Given the description of an element on the screen output the (x, y) to click on. 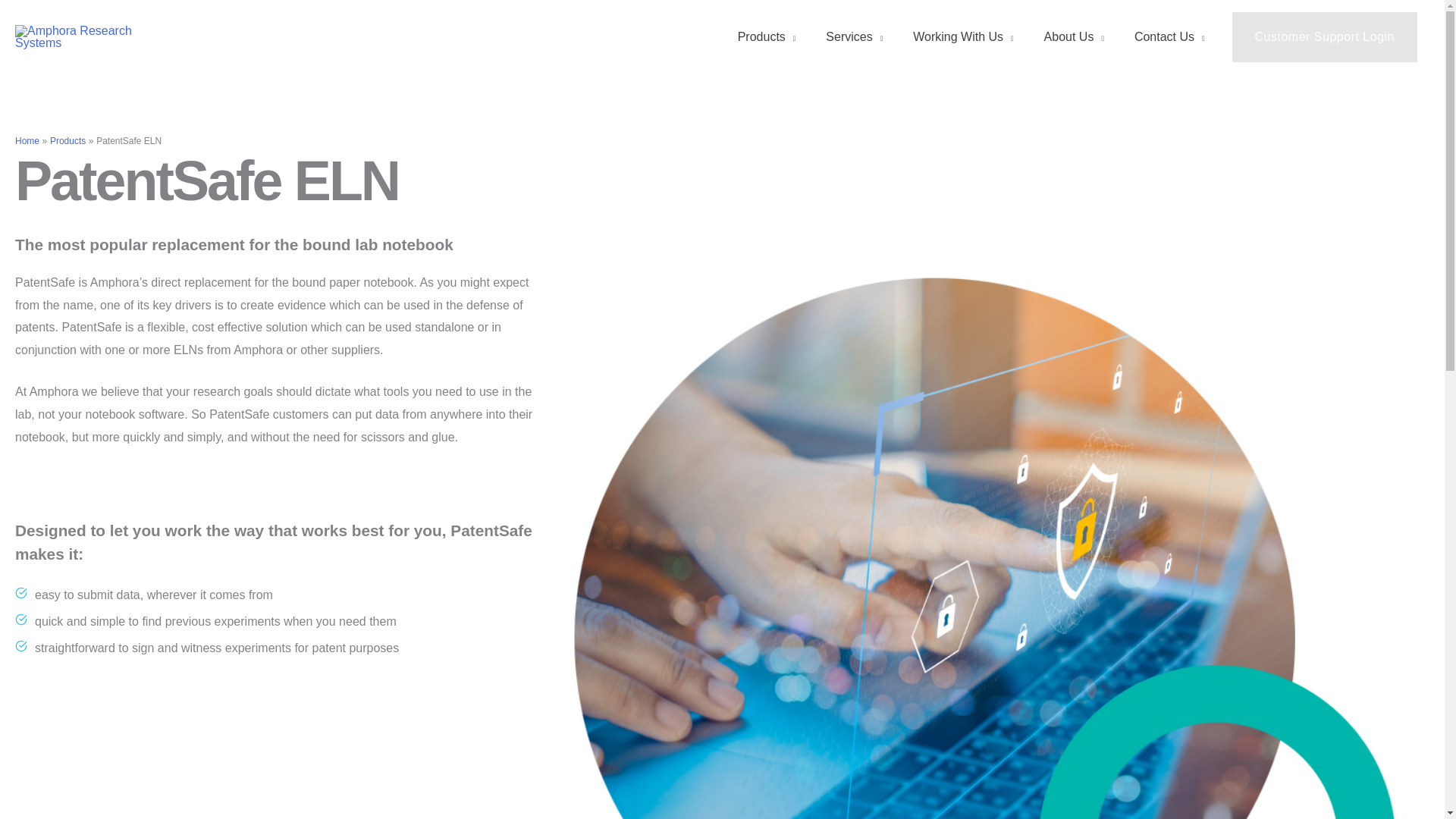
Products (766, 37)
Contact Us (1169, 37)
Services (854, 37)
Working With Us (962, 37)
Home (26, 140)
Products (67, 140)
About Us (1074, 37)
Customer Support Login (1323, 37)
